Given the description of an element on the screen output the (x, y) to click on. 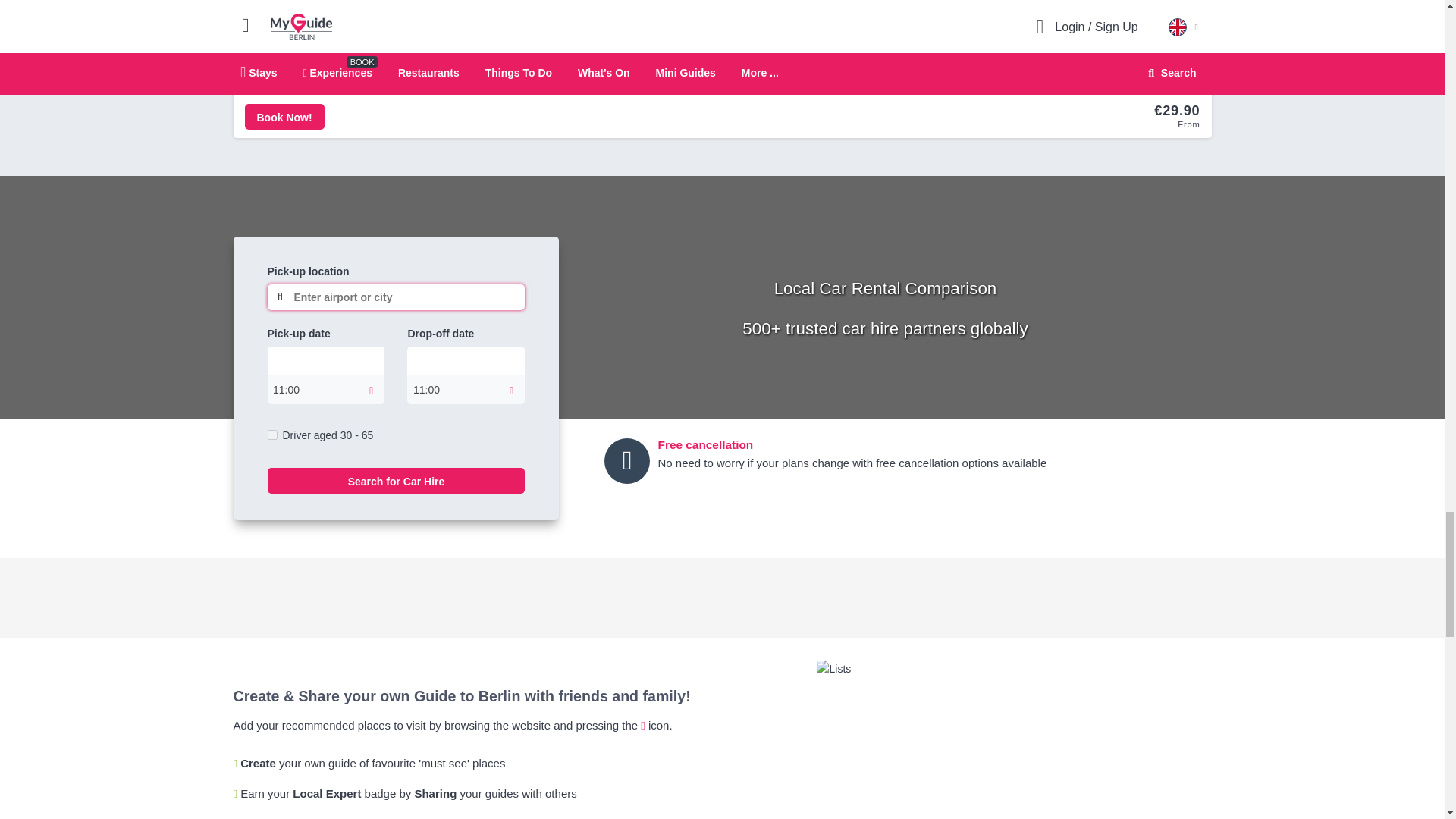
on (271, 434)
